Given the description of an element on the screen output the (x, y) to click on. 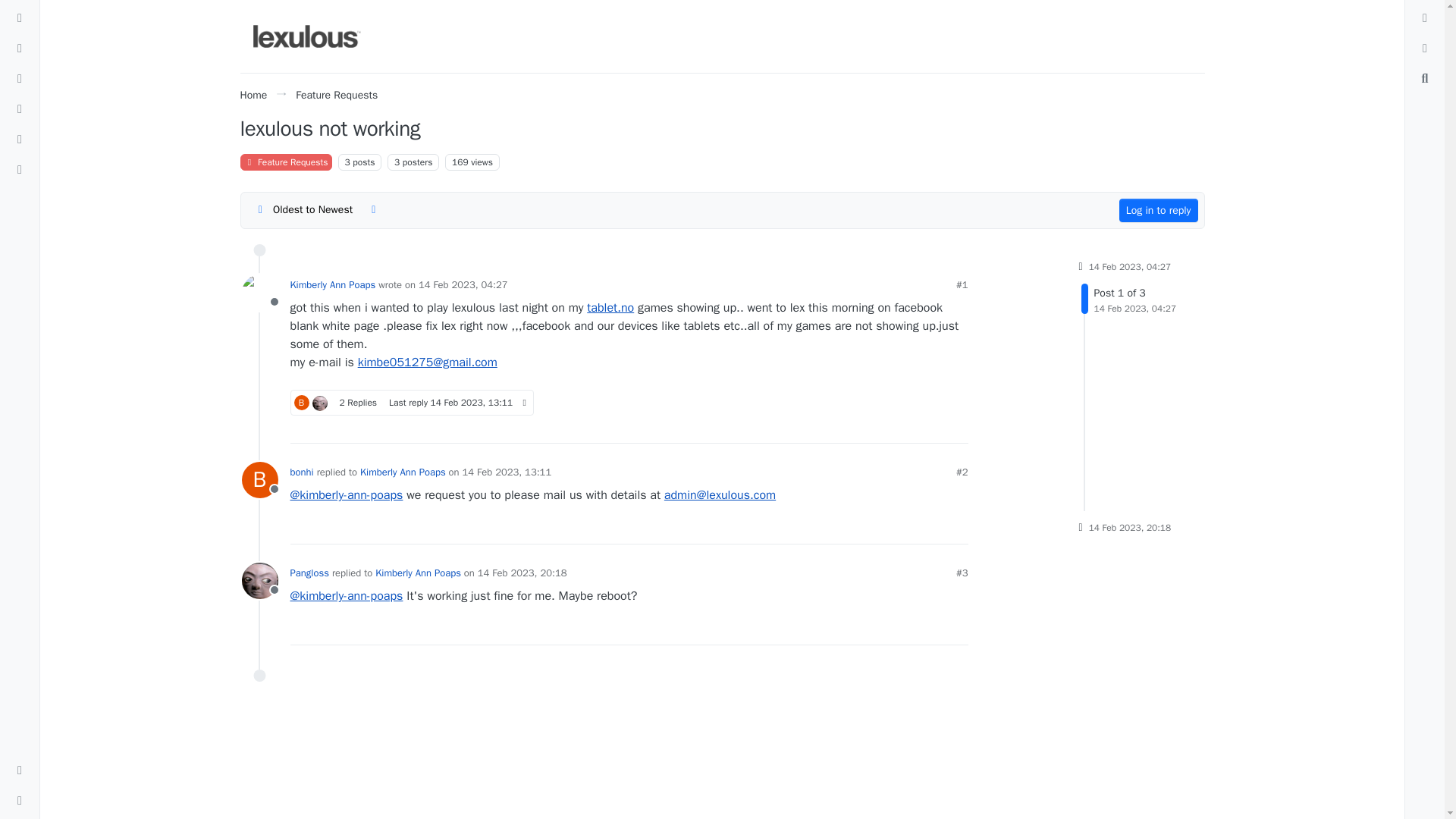
Home (253, 94)
bonhi (301, 402)
Feature Requests (336, 94)
Pangloss (320, 403)
14 Feb 2023, 04:27 (463, 284)
14 Feb 2023, 13:11 (1128, 298)
169 (471, 402)
Brand Logo (459, 162)
Kimberly Ann Poaps (307, 36)
